Given the description of an element on the screen output the (x, y) to click on. 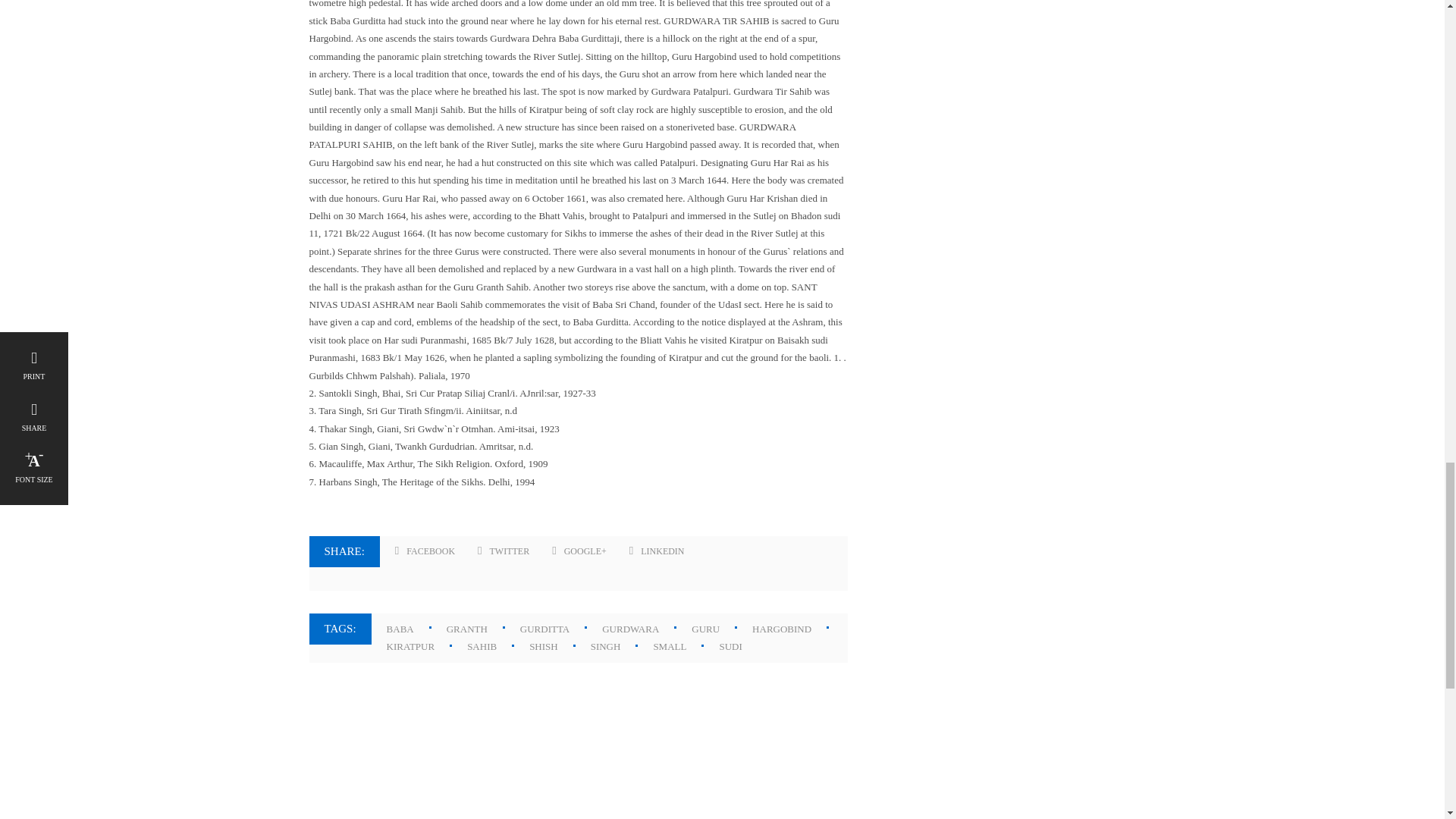
Share toFacebook (424, 551)
Share toLinkedin (656, 551)
Share toTwitter (503, 551)
